Given the description of an element on the screen output the (x, y) to click on. 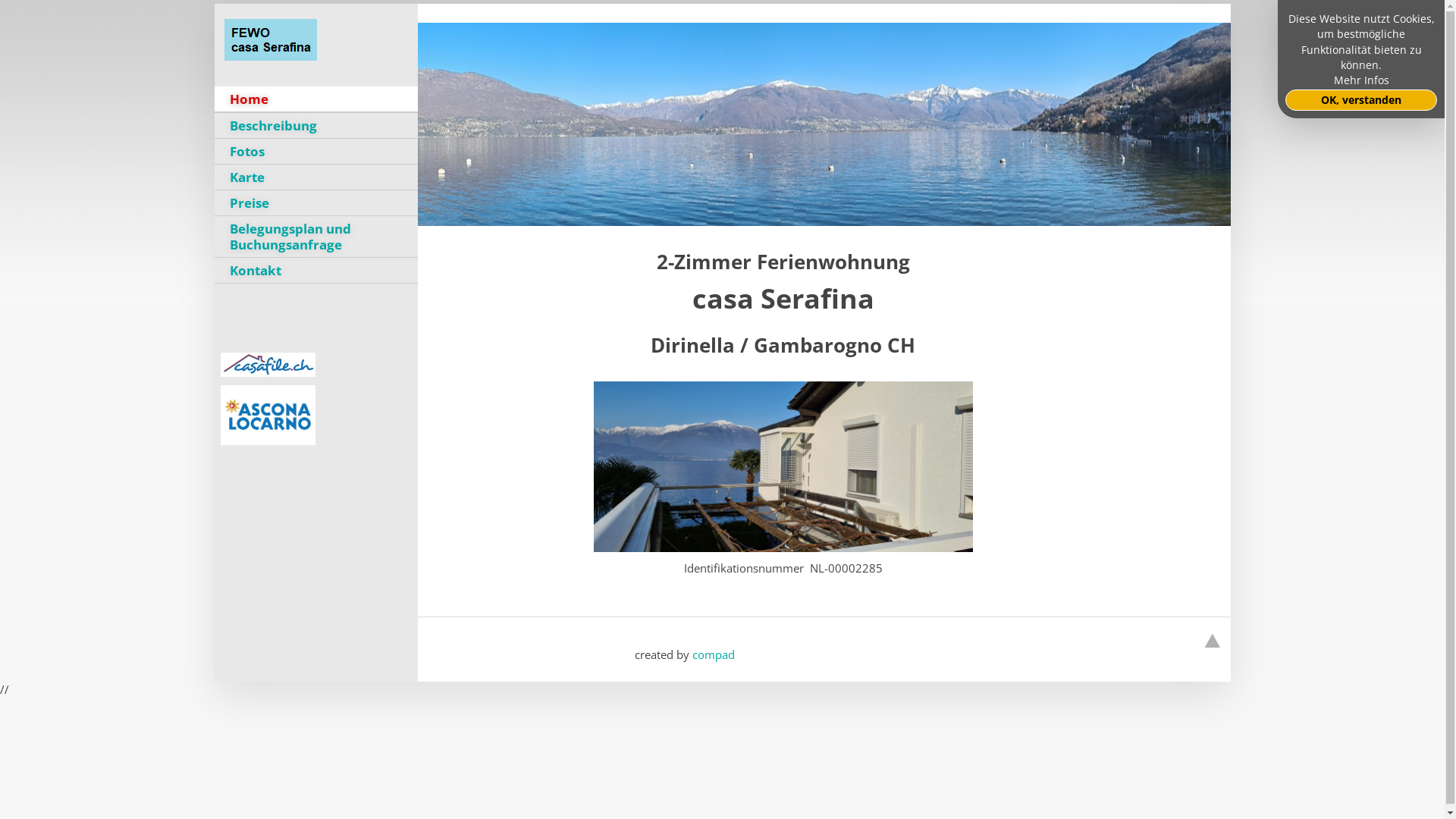
OK, verstanden Element type: text (1361, 99)
compad Element type: text (713, 654)
Preise Element type: text (315, 202)
Fotos Element type: text (315, 150)
Mehr Infos Element type: text (1360, 80)
Beschreibung Element type: text (315, 125)
Kontakt Element type: text (315, 269)
Belegungsplan und Buchungsanfrage Element type: text (315, 236)
Home Element type: text (315, 99)
Go to top Element type: hover (1211, 641)
Karte Element type: text (315, 176)
